Given the description of an element on the screen output the (x, y) to click on. 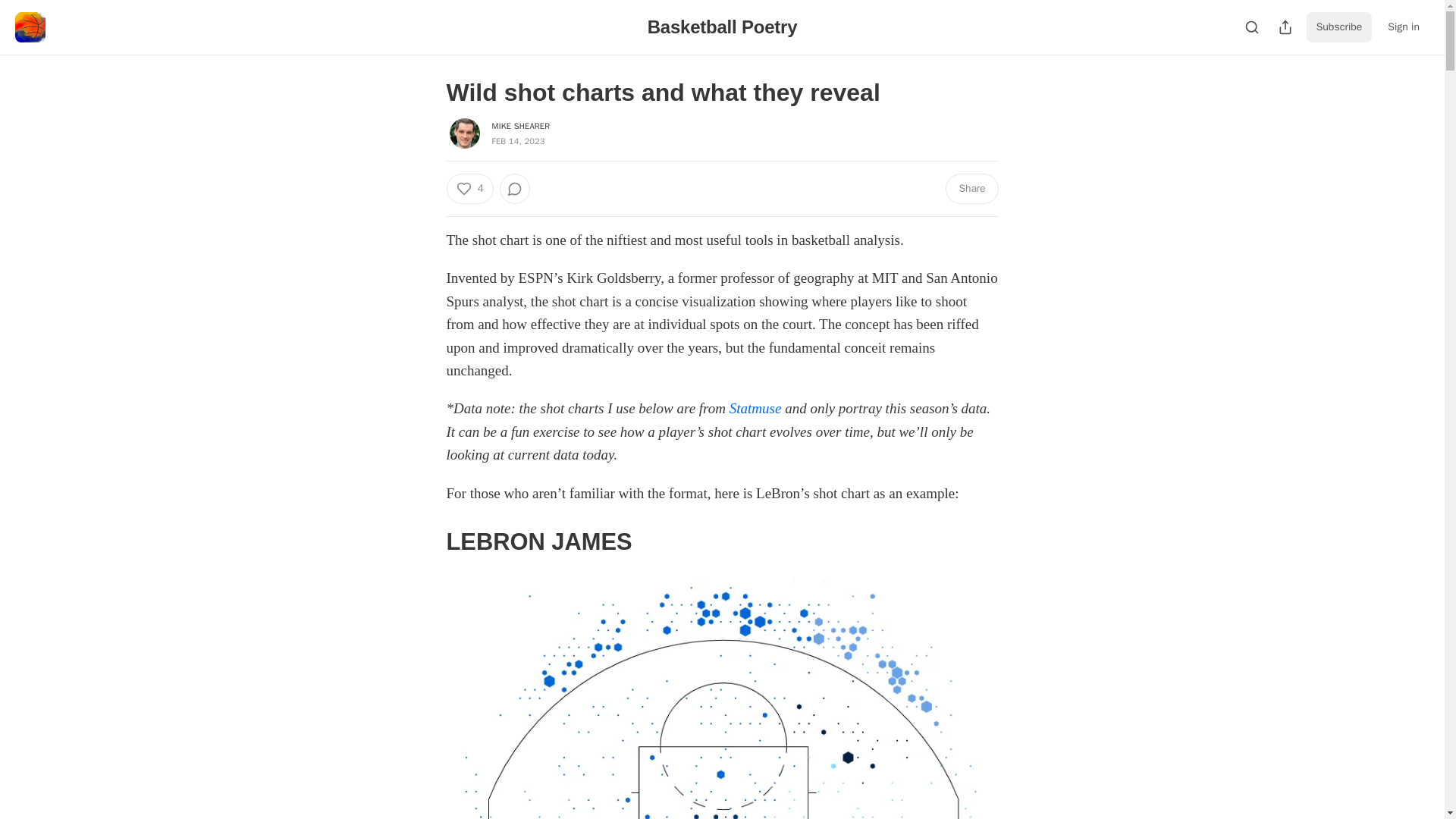
MIKE SHEARER (521, 125)
4 (469, 188)
Basketball Poetry (722, 26)
Subscribe (1339, 27)
Sign in (1403, 27)
Share (970, 188)
Statmuse (755, 408)
